Given the description of an element on the screen output the (x, y) to click on. 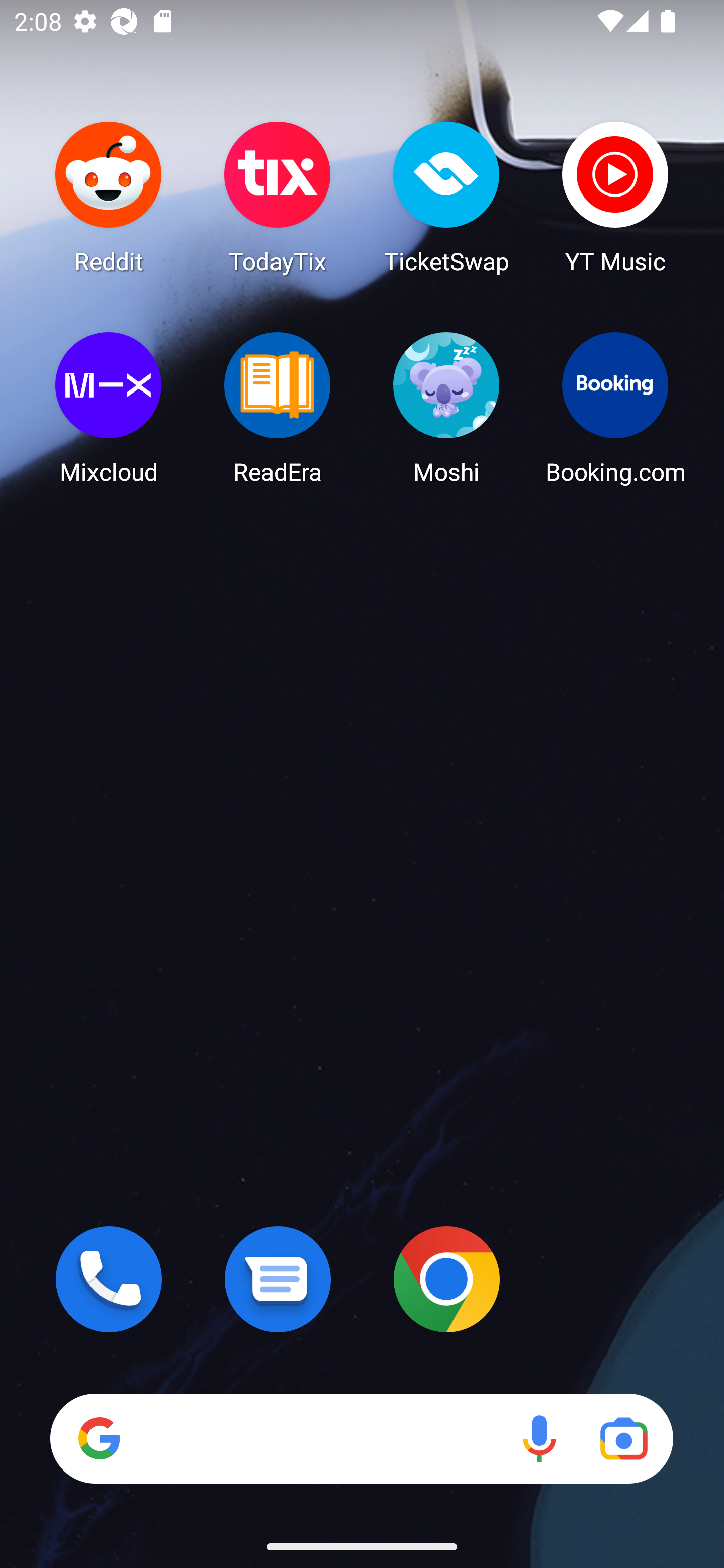
Reddit (108, 196)
TodayTix (277, 196)
TicketSwap (445, 196)
YT Music (615, 196)
Mixcloud (108, 407)
ReadEra (277, 407)
Moshi (445, 407)
Booking.com (615, 407)
Phone (108, 1279)
Messages (277, 1279)
Chrome (446, 1279)
Search Voice search Google Lens (361, 1438)
Voice search (539, 1438)
Google Lens (623, 1438)
